Given the description of an element on the screen output the (x, y) to click on. 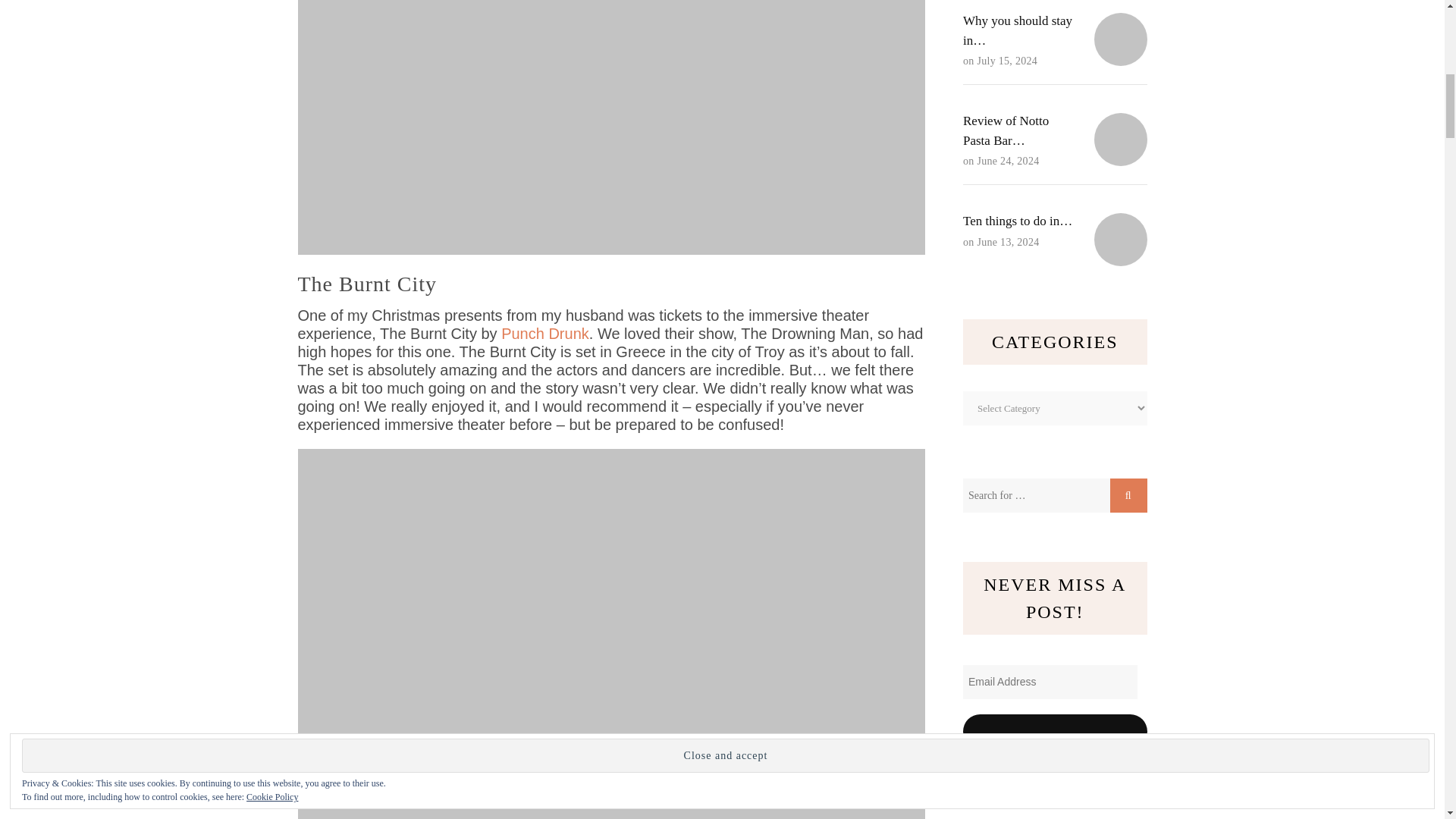
Punch Drunk (544, 333)
